Given the description of an element on the screen output the (x, y) to click on. 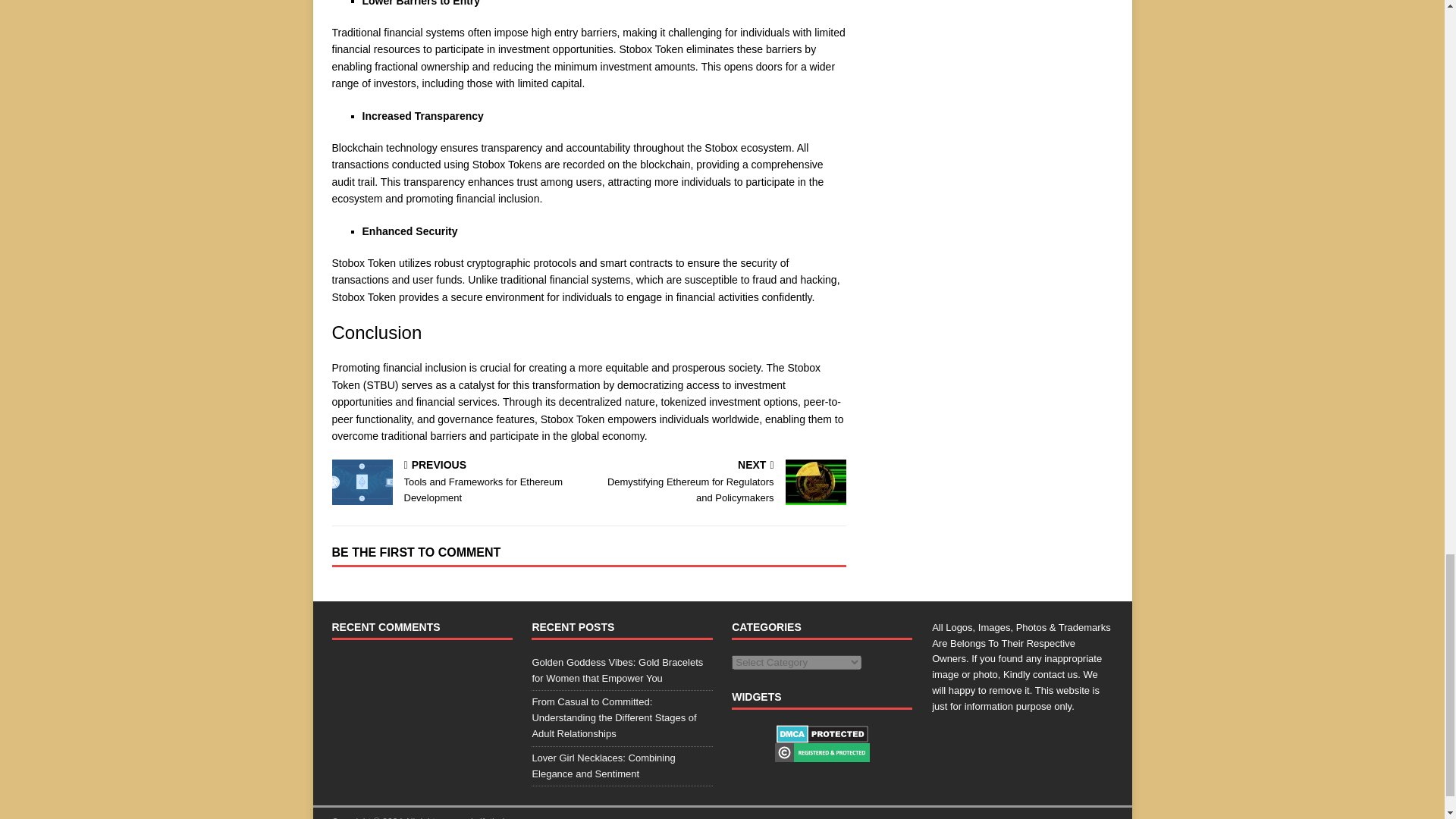
DMCA.com Protection Status (821, 734)
